Given the description of an element on the screen output the (x, y) to click on. 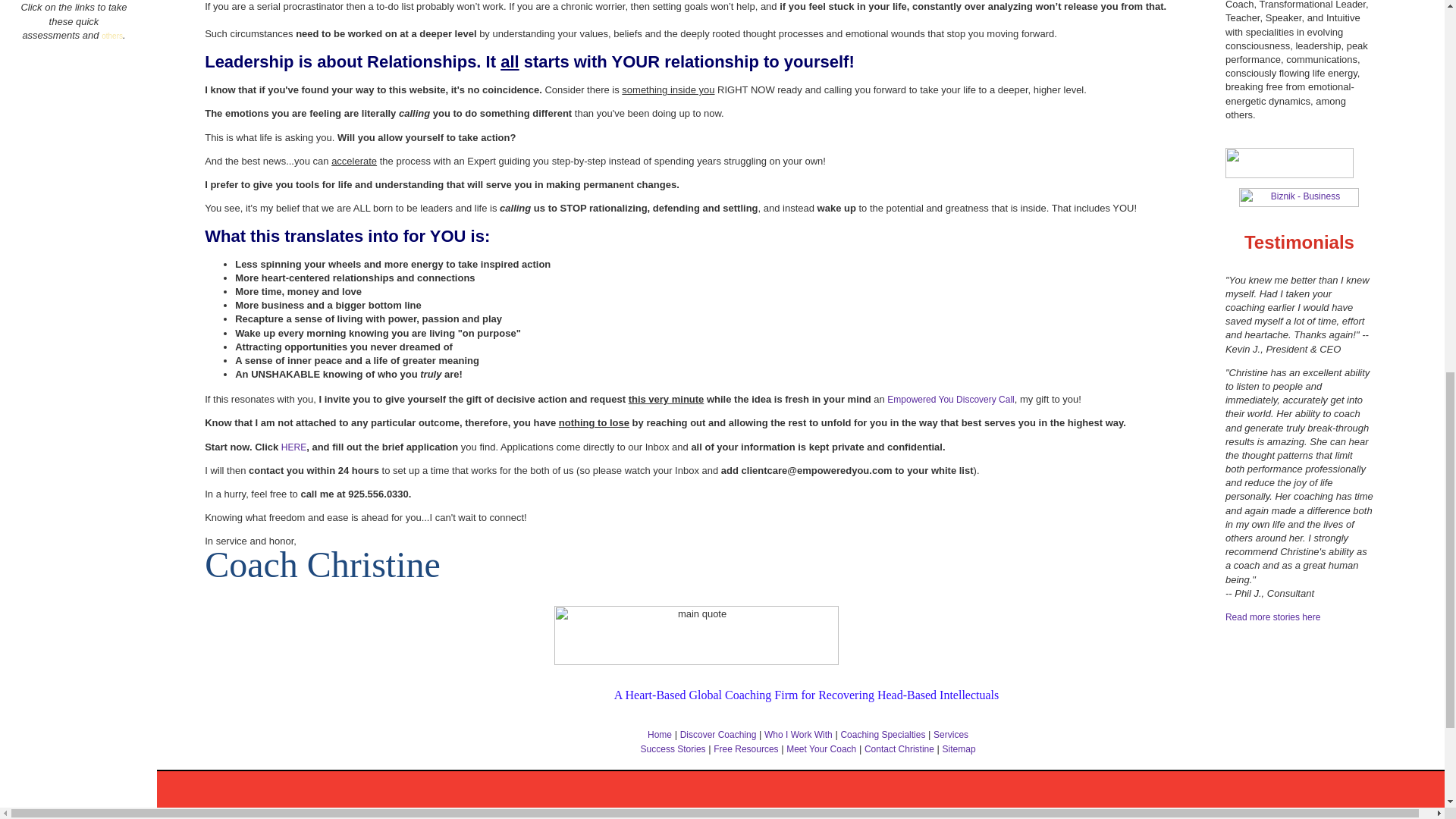
Contact Christine (293, 447)
Success Stories (1272, 616)
Discover Coaching (718, 734)
Who I Work With (798, 734)
Services (950, 734)
Empowered You Discovery Call (949, 398)
Meet Your Coach (821, 748)
Success Stories (673, 748)
Coaching Specialties (882, 734)
Sitemap (958, 748)
HERE (293, 447)
Free Resources (745, 748)
Read more stories here (1272, 616)
others (111, 35)
Contact Christine (899, 748)
